Given the description of an element on the screen output the (x, y) to click on. 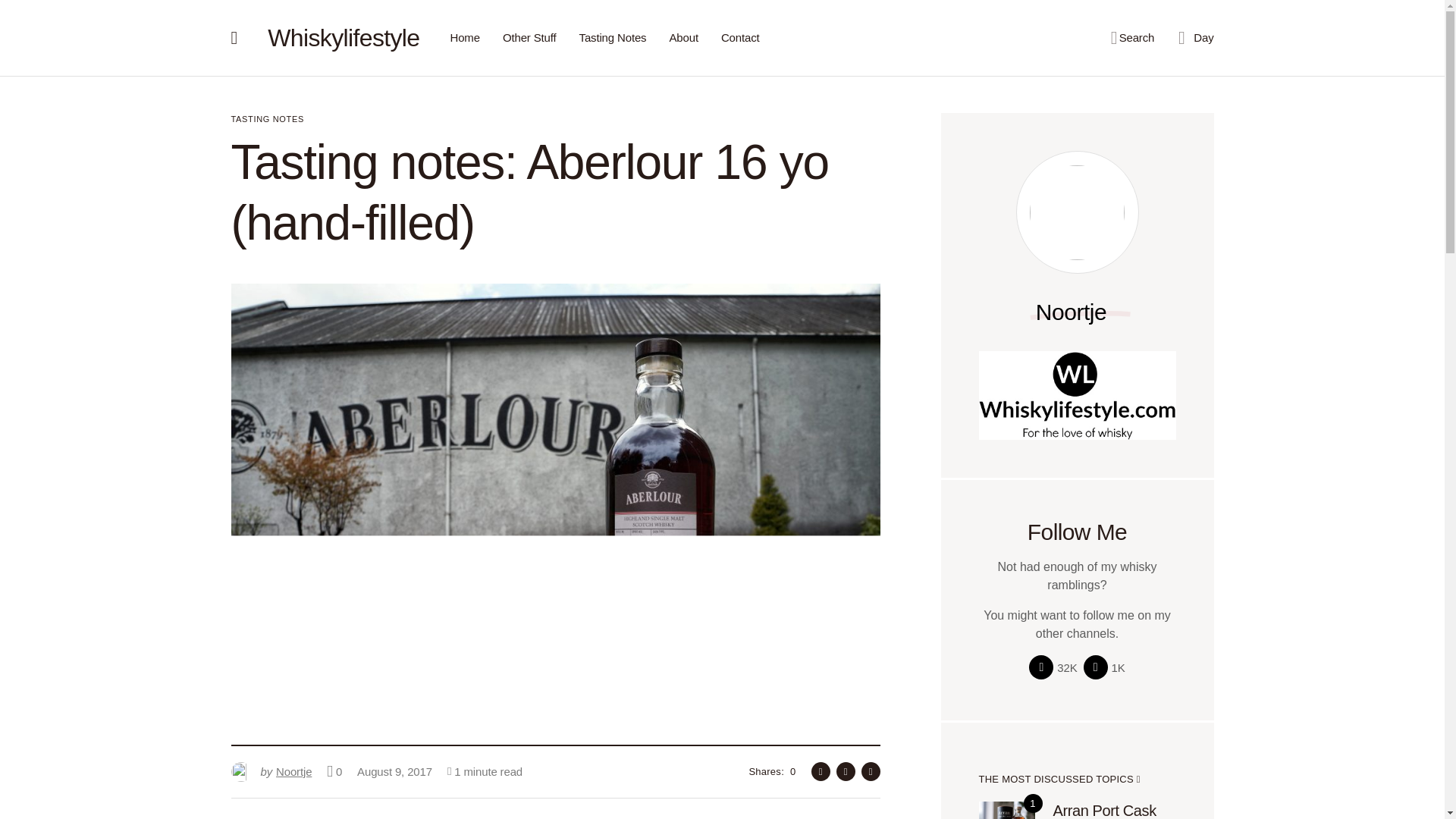
View all posts by Noortje (270, 771)
Whiskylifestyle (270, 771)
TASTING NOTES (343, 37)
